Given the description of an element on the screen output the (x, y) to click on. 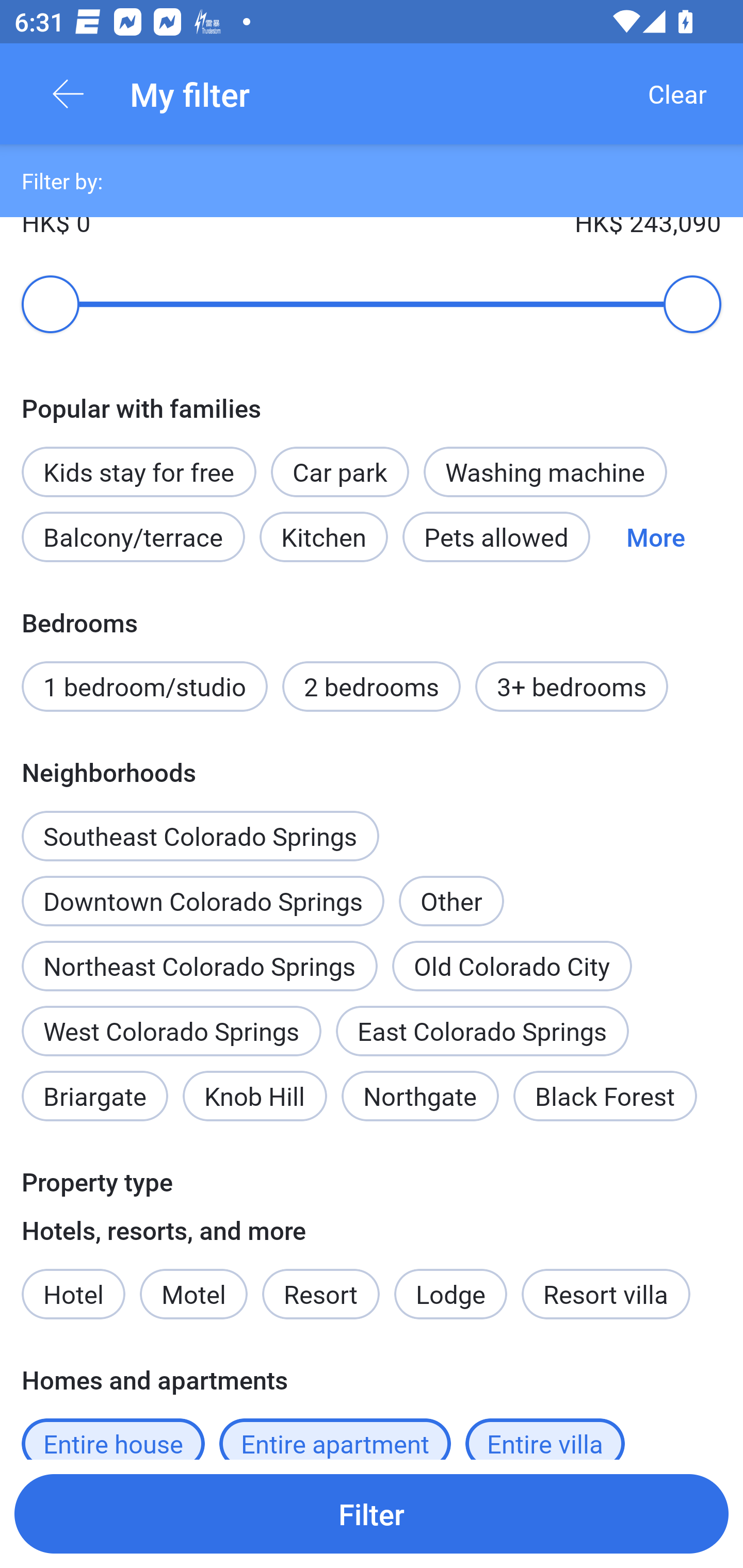
Clear (676, 93)
Kids stay for free (138, 471)
Car park (340, 471)
Washing machine (545, 471)
Balcony/terrace (133, 536)
Kitchen (323, 536)
Pets allowed (495, 536)
More (655, 536)
1 bedroom/studio (144, 685)
2 bedrooms (371, 685)
3+ bedrooms (571, 685)
Southeast Colorado Springs (199, 825)
Downtown Colorado Springs (202, 900)
Other (450, 889)
Northeast Colorado Springs (199, 965)
Old Colorado City (512, 965)
West Colorado Springs (171, 1030)
East Colorado Springs (482, 1030)
Briargate (94, 1095)
Knob Hill (254, 1095)
Northgate (420, 1095)
Black Forest (604, 1095)
Hotel (73, 1294)
Motel (193, 1294)
Resort (320, 1294)
Lodge (450, 1294)
Resort villa (605, 1294)
Filter (371, 1513)
